Given the description of an element on the screen output the (x, y) to click on. 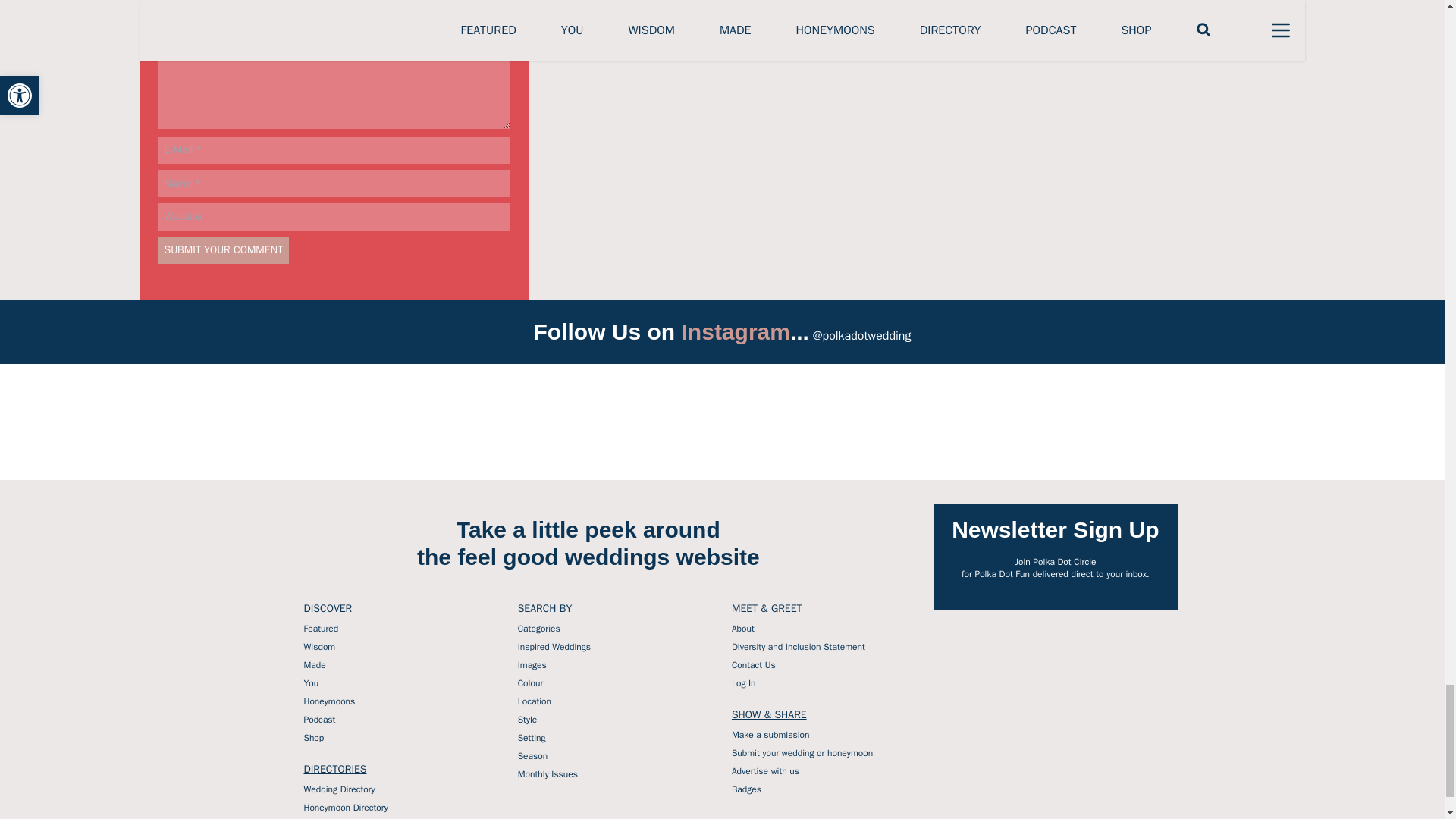
SUBMIT YOUR COMMENT (222, 249)
